Given the description of an element on the screen output the (x, y) to click on. 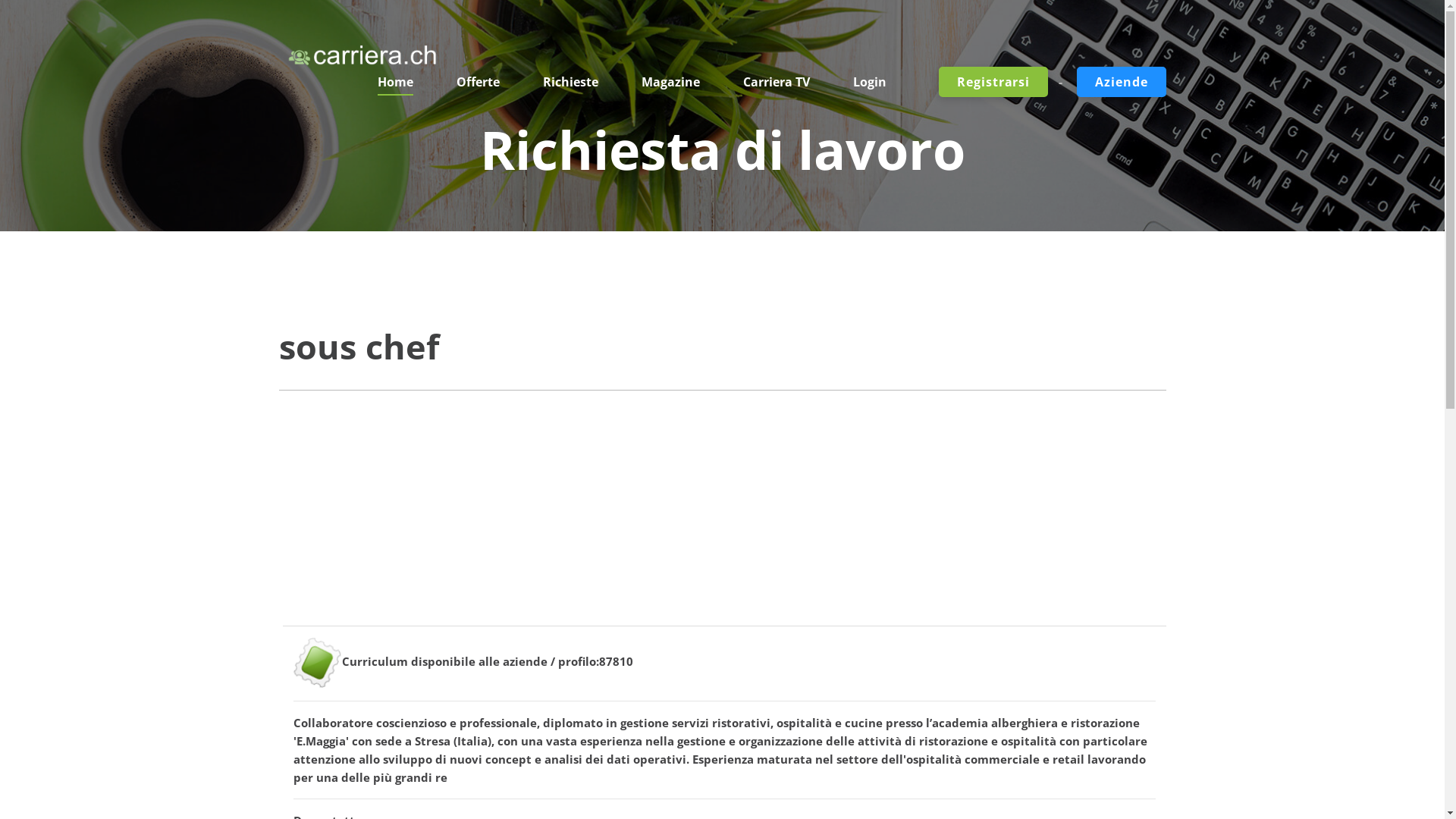
Richieste Element type: text (570, 81)
Aziende Element type: text (1120, 81)
Registrarsi Element type: text (993, 81)
Login Element type: text (869, 81)
Offerte Element type: text (477, 81)
Home Element type: text (395, 81)
Advertisement Element type: hover (722, 519)
Magazine Element type: text (670, 81)
Carriera TV Element type: text (776, 81)
